Given the description of an element on the screen output the (x, y) to click on. 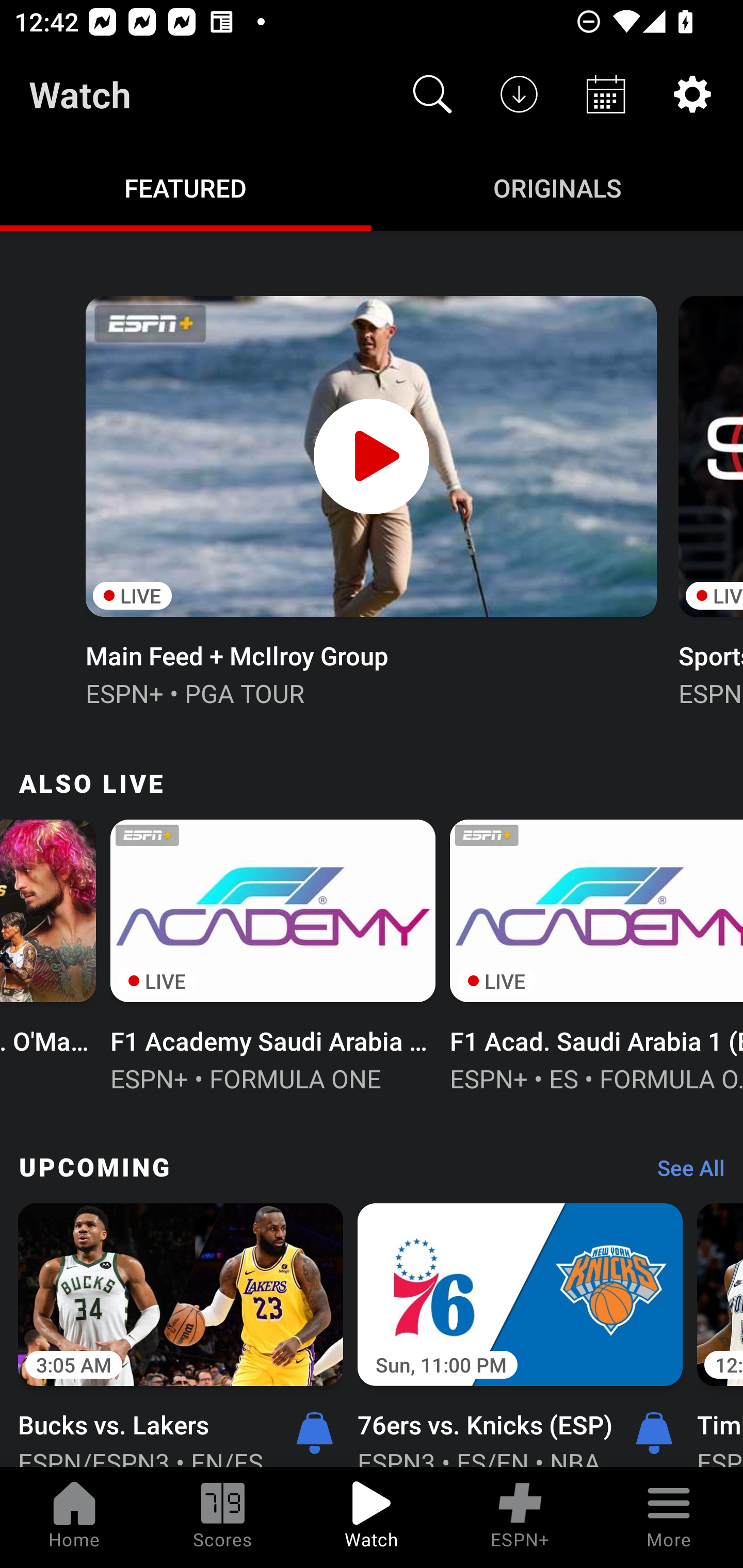
Search (432, 93)
Downloads (518, 93)
Schedule (605, 93)
Settings (692, 93)
Originals ORIGINALS (557, 187)
 LIVE Main Feed + McIlroy Group ESPN+ • PGA TOUR (370, 499)
See All (683, 1172)
Home (74, 1517)
Scores (222, 1517)
ESPN+ (519, 1517)
More (668, 1517)
